Given the description of an element on the screen output the (x, y) to click on. 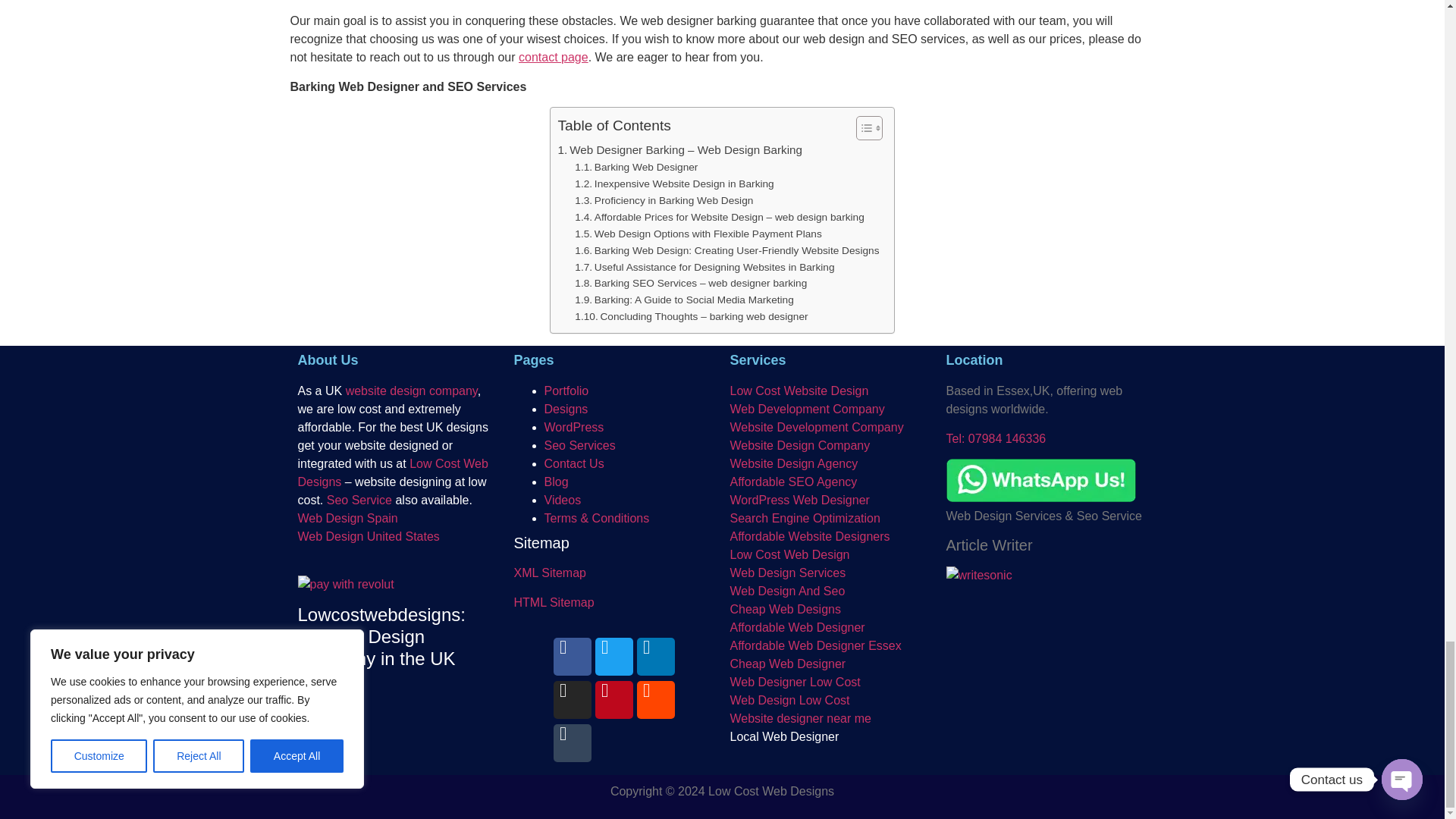
Useful Assistance for Designing Websites in Barking (704, 267)
Inexpensive Website Design in Barking (674, 184)
Proficiency in Barking Web Design (663, 200)
Barking Web Design: Creating User-Friendly Website Designs (727, 250)
Barking Web Designer (636, 167)
Web Design Options with Flexible Payment Plans (698, 234)
